Given the description of an element on the screen output the (x, y) to click on. 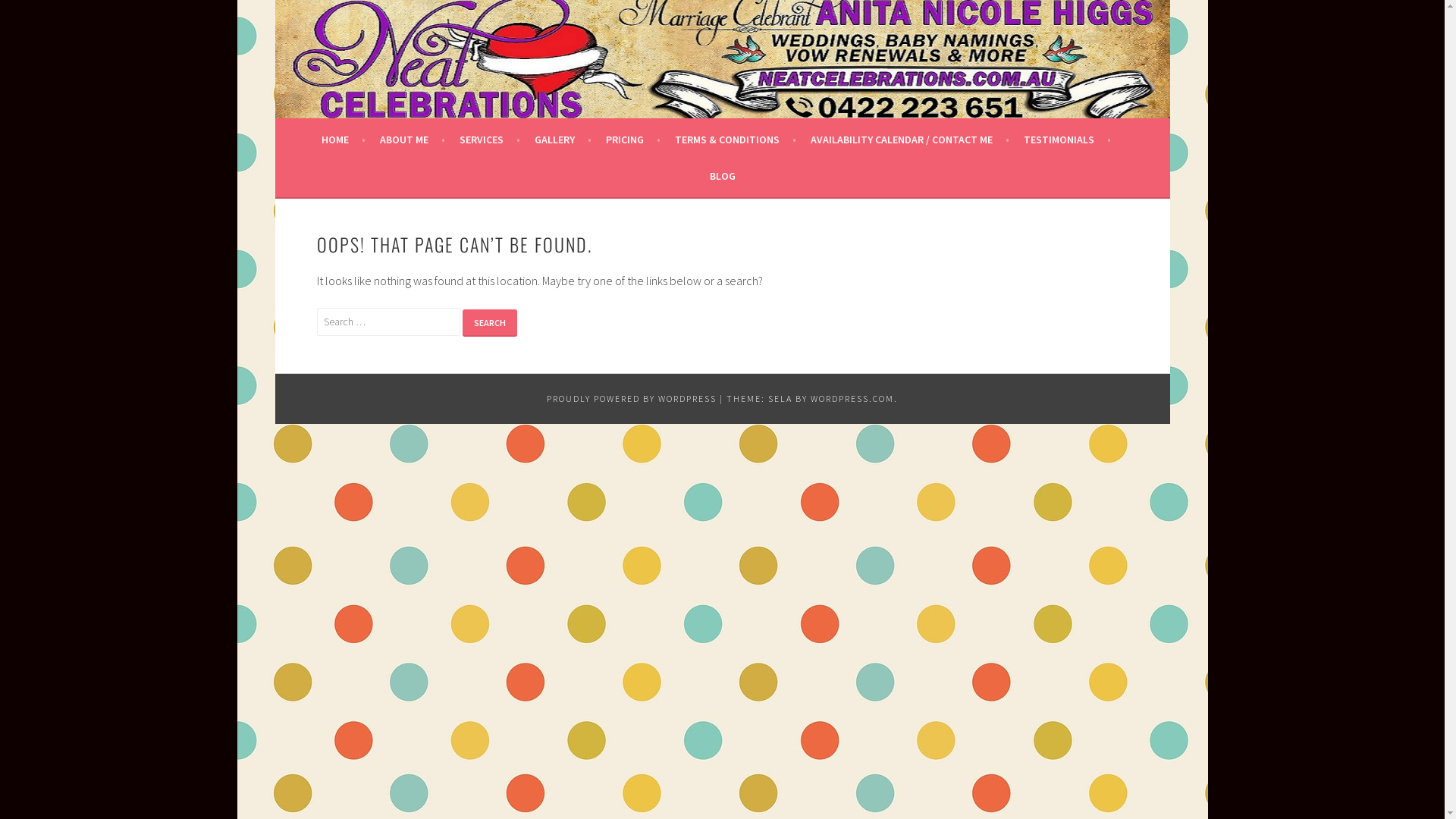
NEAT CELEBRATIONS Element type: text (427, 54)
GALLERY Element type: text (562, 139)
TESTIMONIALS Element type: text (1066, 139)
BLOG Element type: text (722, 175)
HOME Element type: text (343, 139)
AVAILABILITY CALENDAR / CONTACT ME Element type: text (909, 139)
SERVICES Element type: text (489, 139)
WORDPRESS.COM Element type: text (852, 398)
PROUDLY POWERED BY WORDPRESS Element type: text (631, 398)
PRICING Element type: text (632, 139)
Search Element type: text (489, 322)
TERMS & CONDITIONS Element type: text (735, 139)
ABOUT ME Element type: text (412, 139)
